Given the description of an element on the screen output the (x, y) to click on. 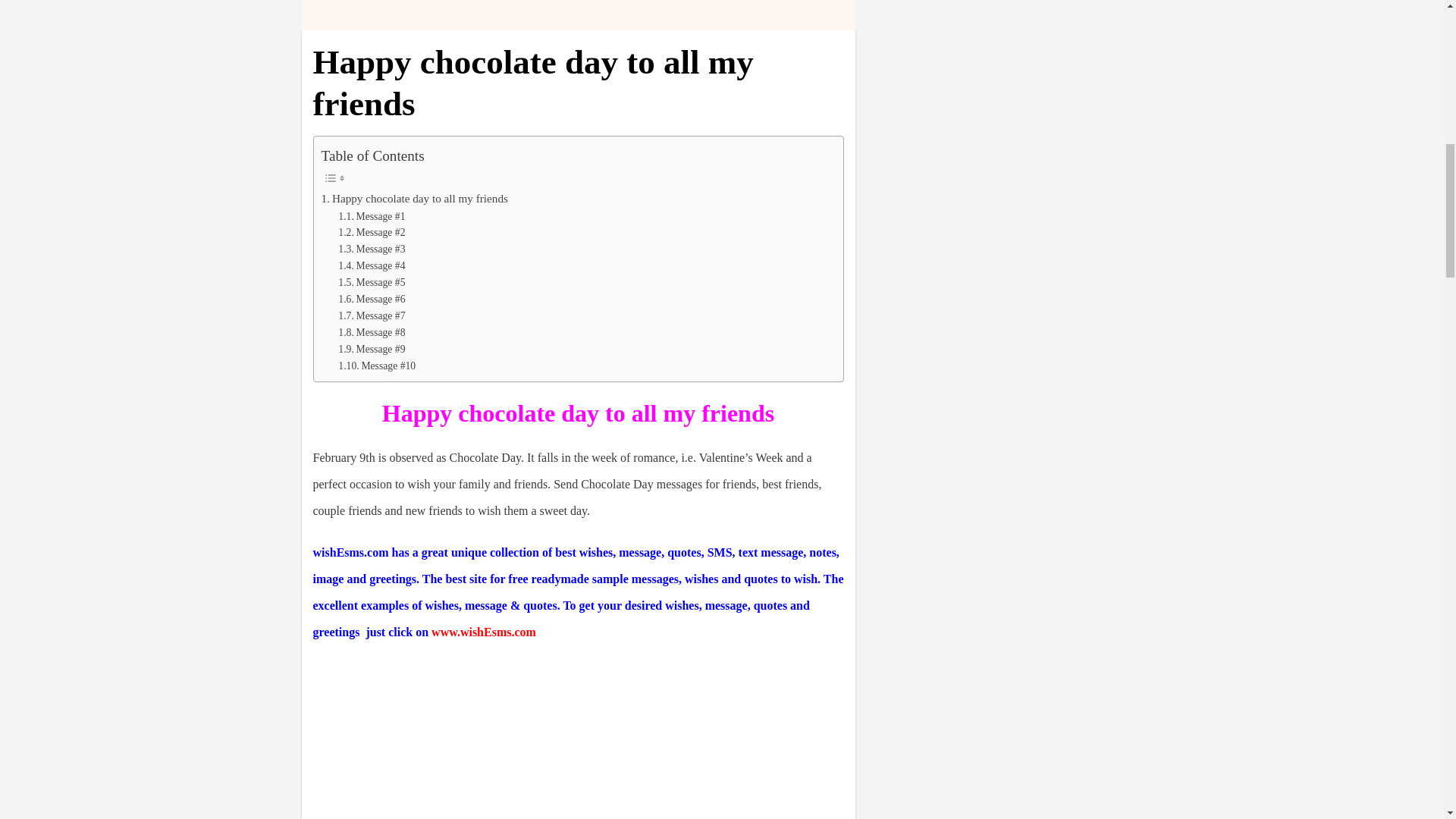
Happy chocolate day to all my friends (414, 198)
www.wishEsms.com (482, 631)
Happy chocolate day to all my friends (414, 198)
